Given the description of an element on the screen output the (x, y) to click on. 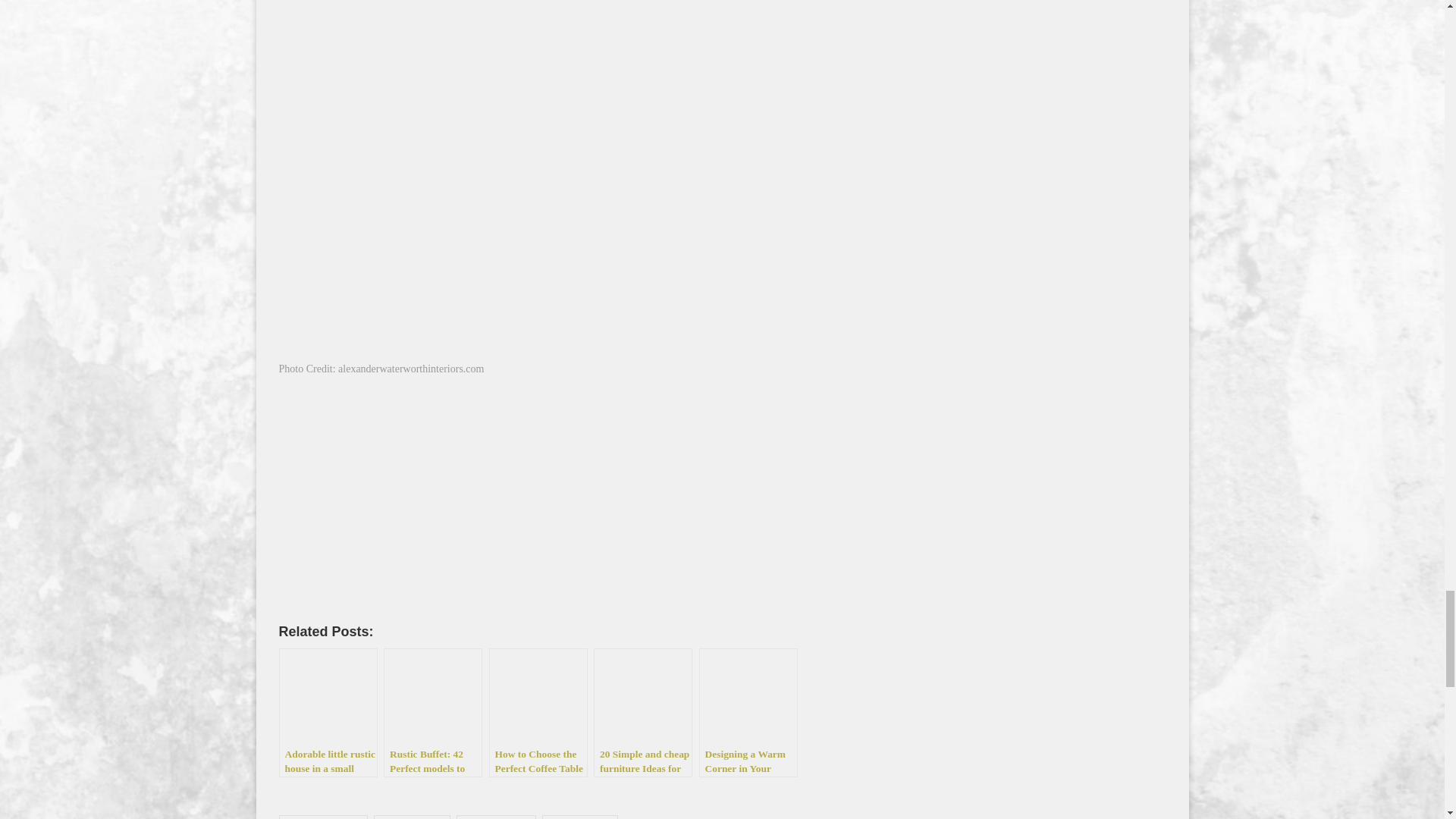
Rustic Buffet: 42 Perfect models to decorate your dream home (432, 712)
Designing a Warm Corner in Your Home for Ultimate Relaxation (747, 712)
How to Choose the Perfect Coffee Table for Your Space (536, 712)
